Given the description of an element on the screen output the (x, y) to click on. 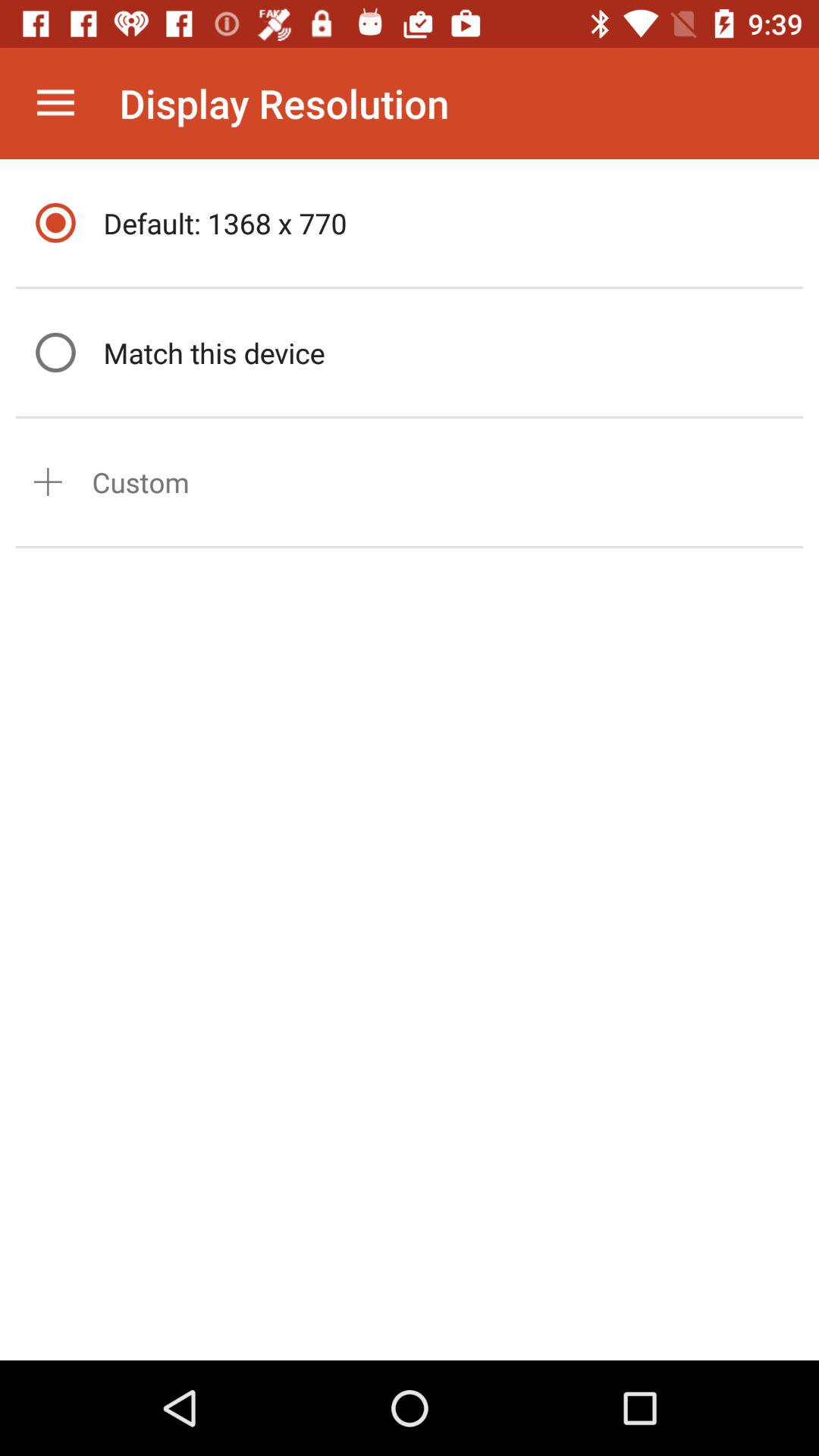
flip to the match this device icon (449, 352)
